Given the description of an element on the screen output the (x, y) to click on. 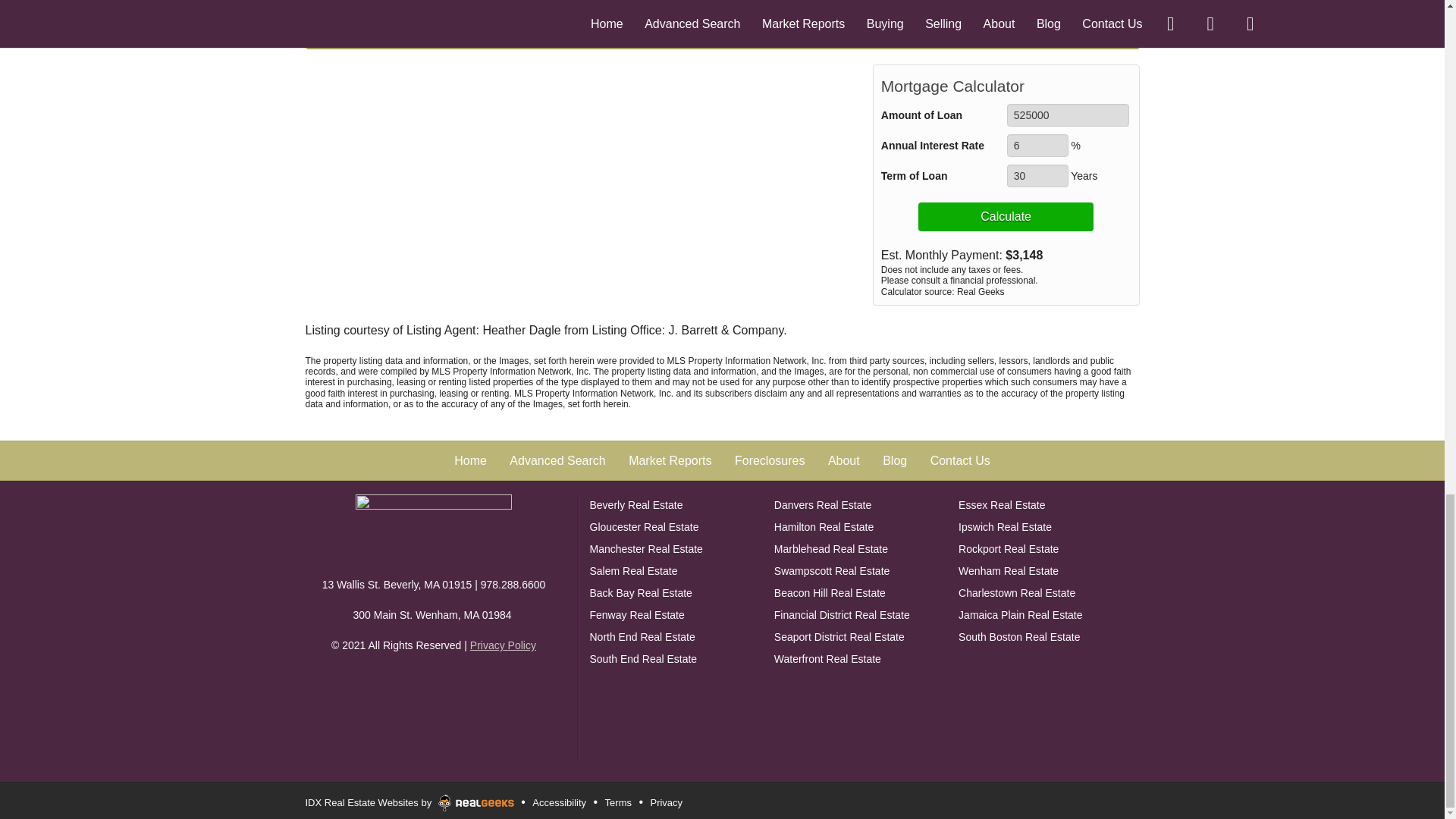
Home (433, 527)
30 (1037, 175)
525000 (1068, 115)
6 (1037, 145)
